Given the description of an element on the screen output the (x, y) to click on. 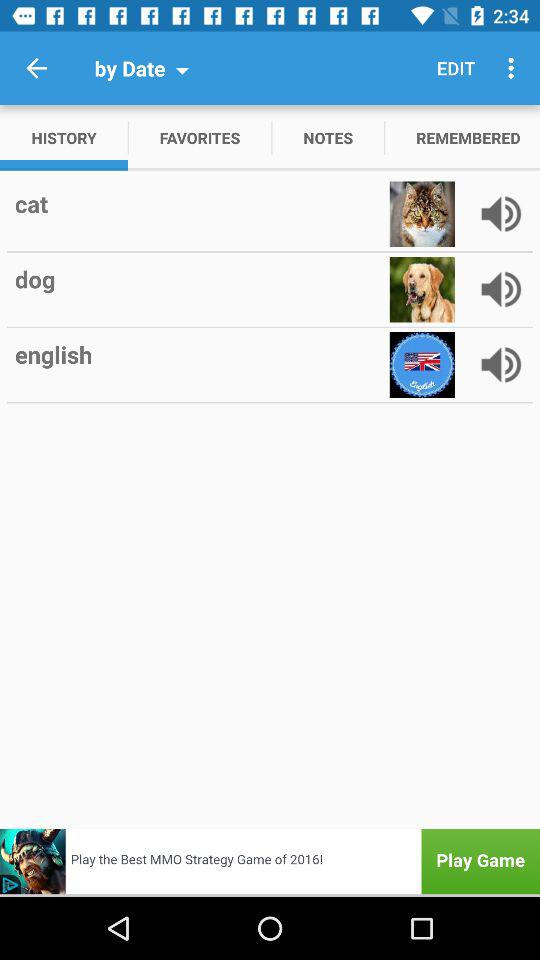
select the item next to by date icon (36, 68)
